Given the description of an element on the screen output the (x, y) to click on. 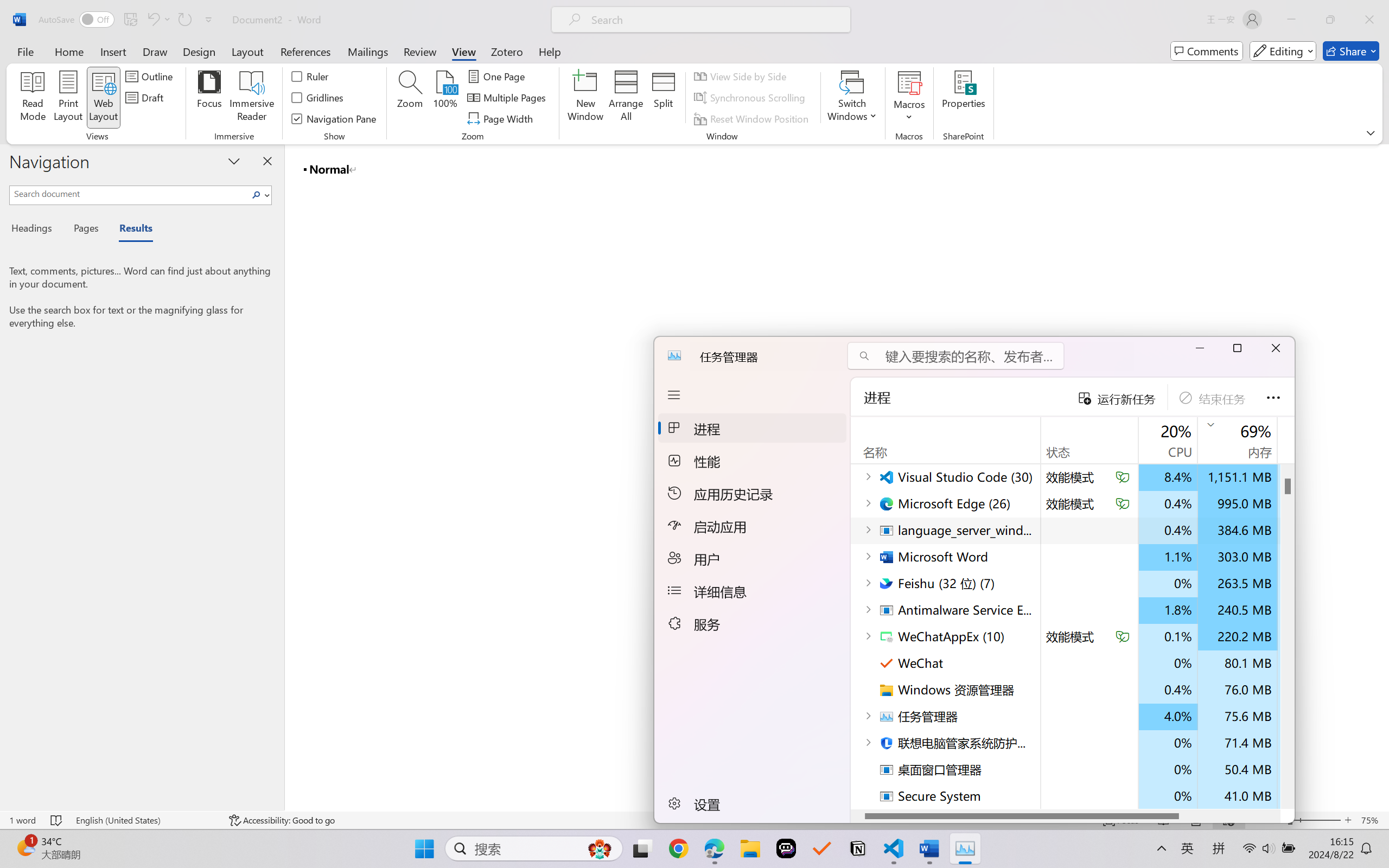
Gridlines (317, 97)
Undo <ApplyStyleToDoc>b__0 (158, 19)
Comments (1206, 50)
One Page (497, 75)
Macros (909, 97)
Class: NetUIScrollBar (1382, 477)
Help (549, 51)
Accessibility Checker Accessibility: Good to go (282, 819)
